Given the description of an element on the screen output the (x, y) to click on. 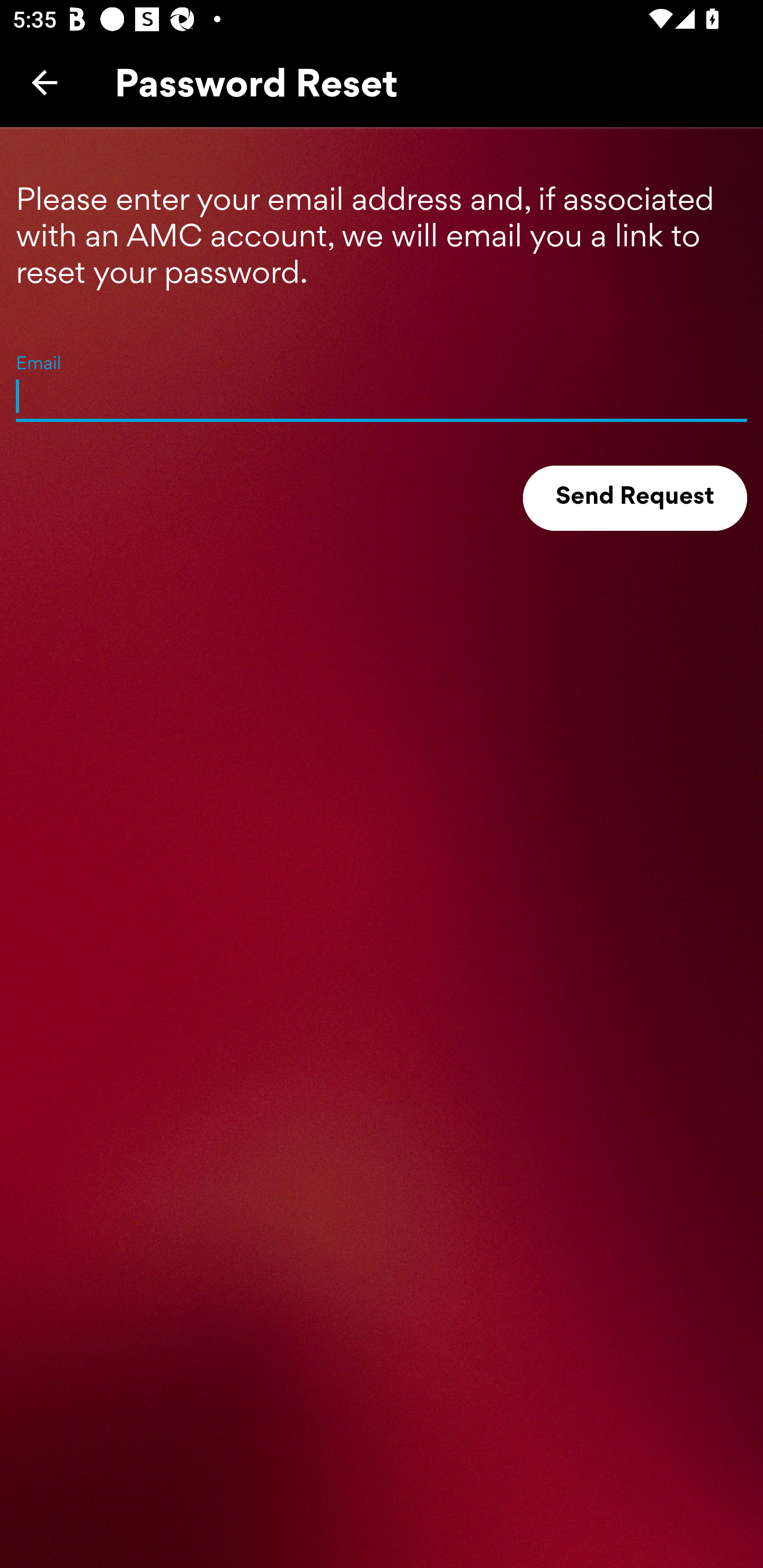
Back (44, 82)
Send Request (634, 498)
